Given the description of an element on the screen output the (x, y) to click on. 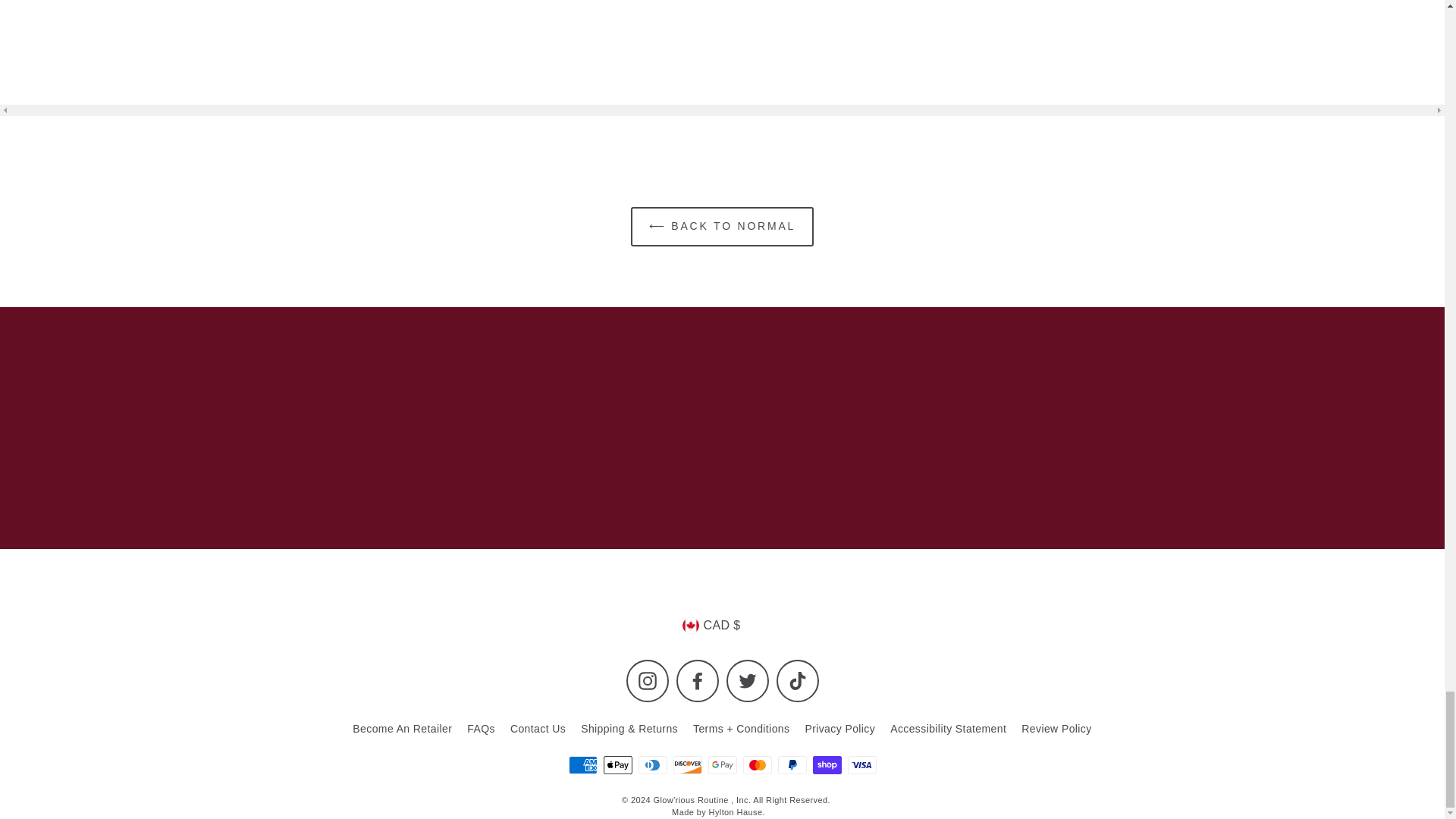
Glow'rious Routine on TikTok (797, 680)
Glow'rious Routine on Instagram (647, 680)
Glow'rious Routine on Twitter (747, 680)
Discover (686, 764)
Apple Pay (617, 764)
Google Pay (721, 764)
Diners Club (652, 764)
Glow'rious Routine on Facebook (698, 680)
Mastercard (756, 764)
American Express (582, 764)
